Given the description of an element on the screen output the (x, y) to click on. 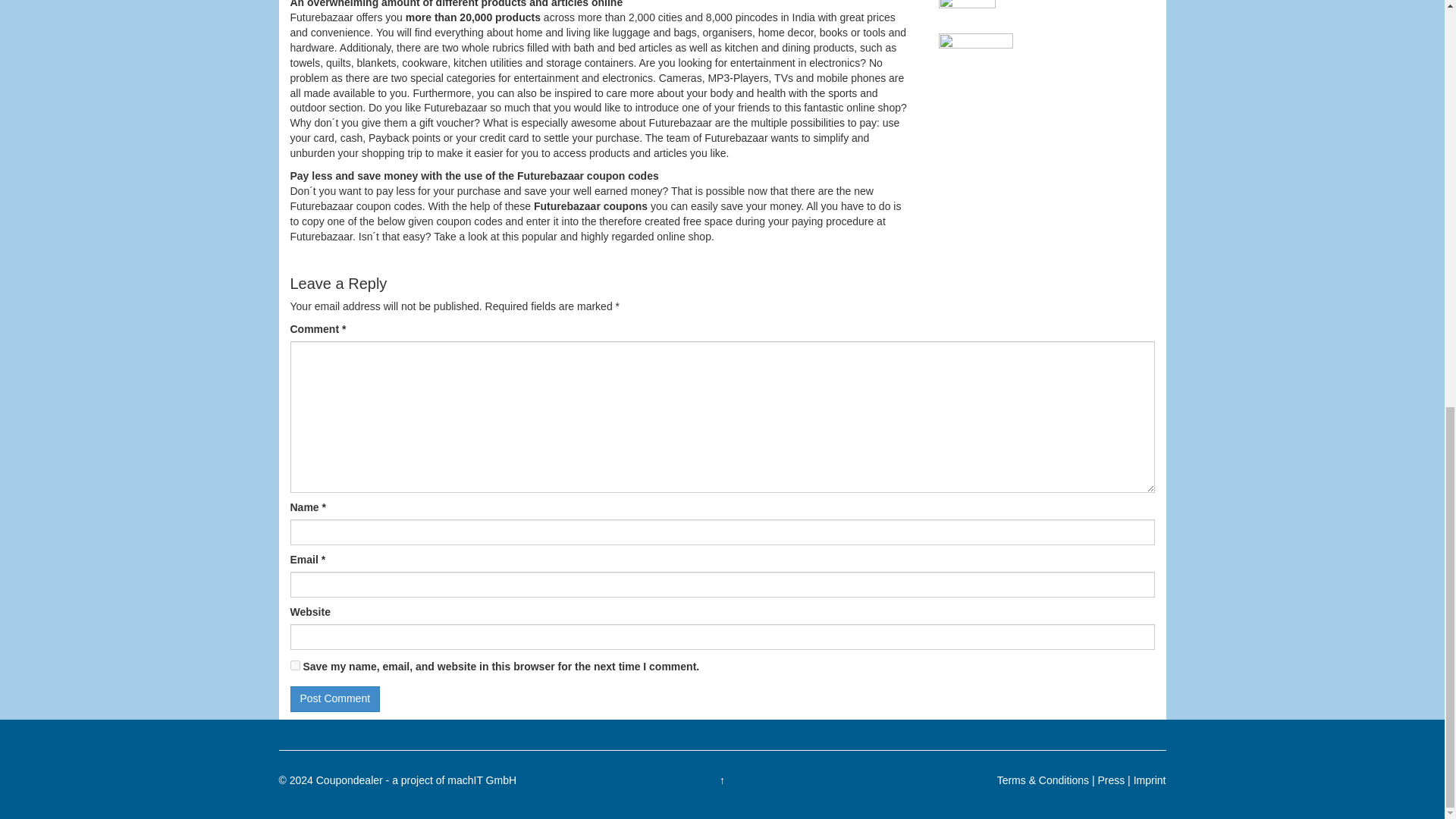
change to Yebhi-coupons Coupon Codes (976, 44)
yes (294, 665)
Post Comment (334, 698)
Imprint (1150, 779)
Coupondealer (348, 779)
change to Indiatimes-shopping Coupon Codes (967, 5)
Post Comment (334, 698)
Press (1110, 779)
